Given the description of an element on the screen output the (x, y) to click on. 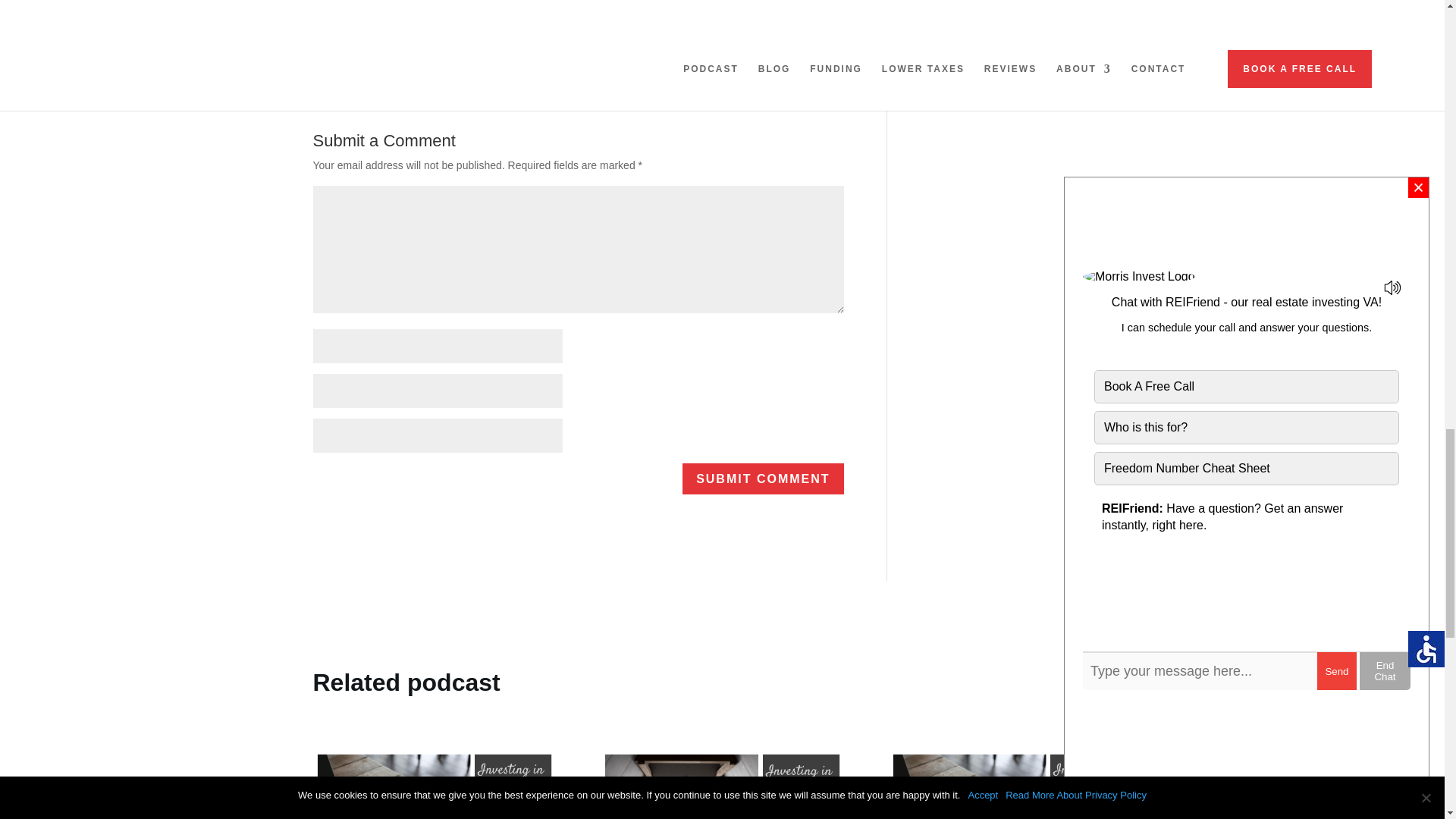
Submit Comment (762, 478)
